Given the description of an element on the screen output the (x, y) to click on. 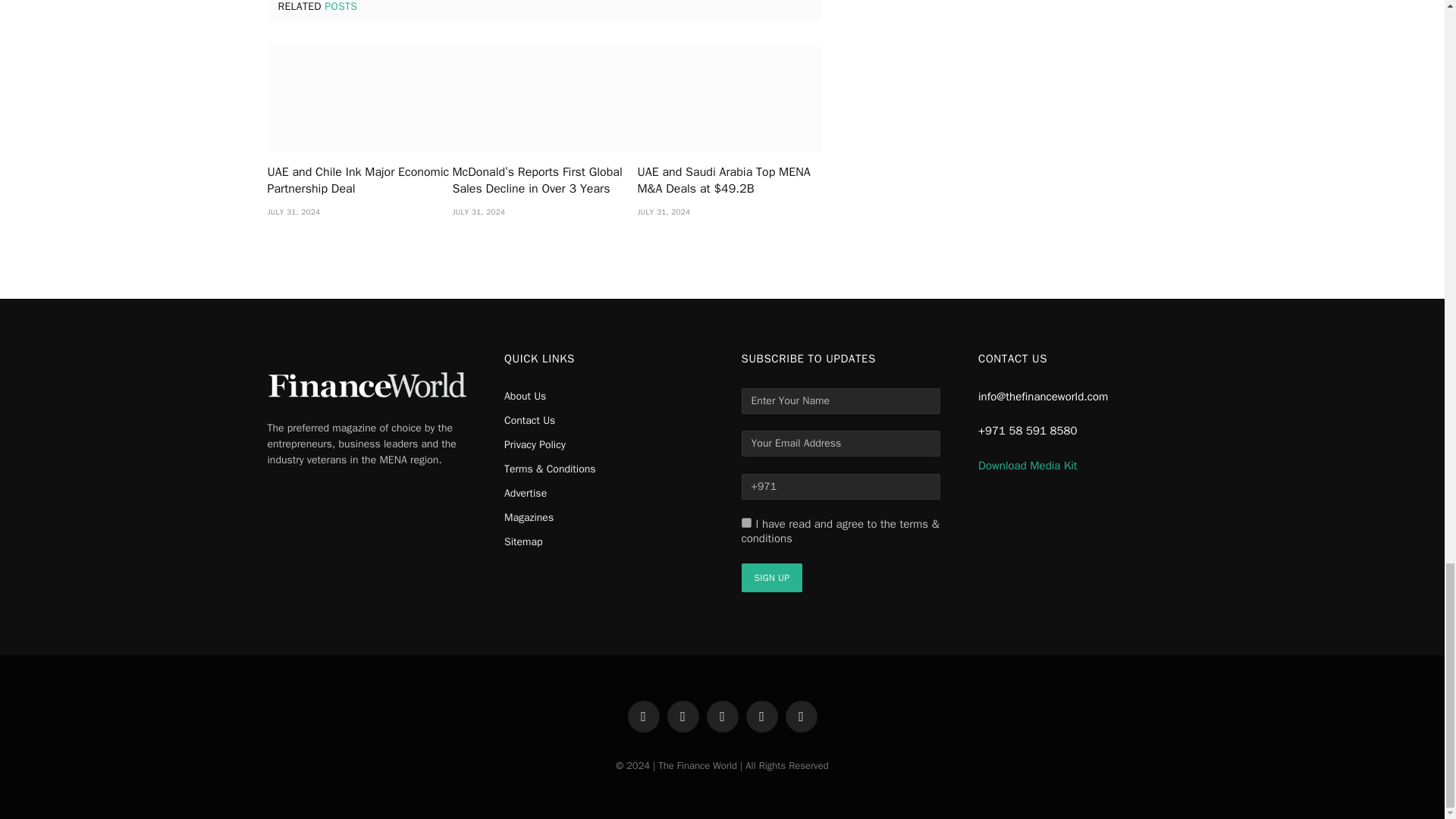
Sign up (772, 577)
1 (746, 522)
